Given the description of an element on the screen output the (x, y) to click on. 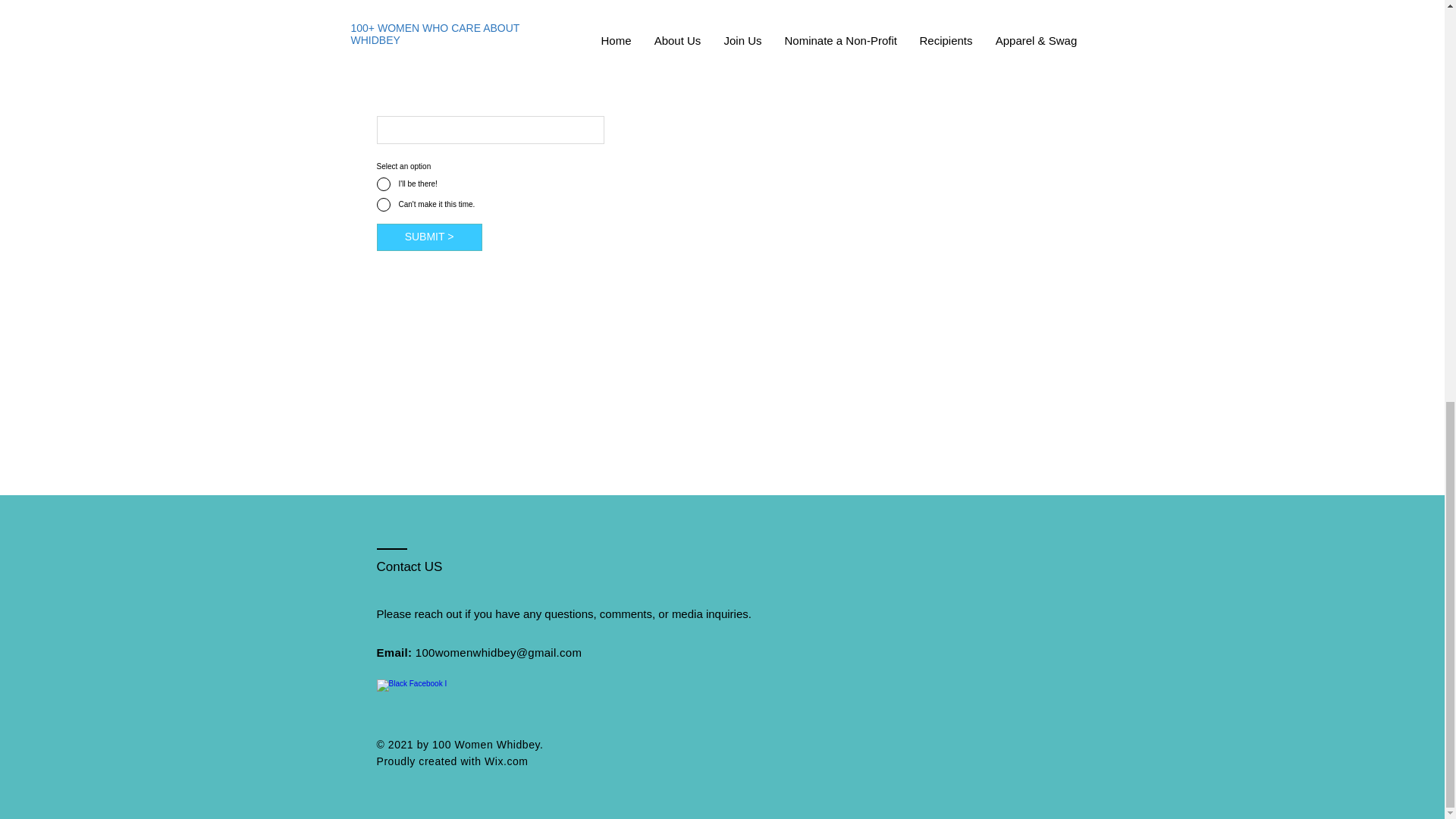
Wix.com (506, 761)
